Given the description of an element on the screen output the (x, y) to click on. 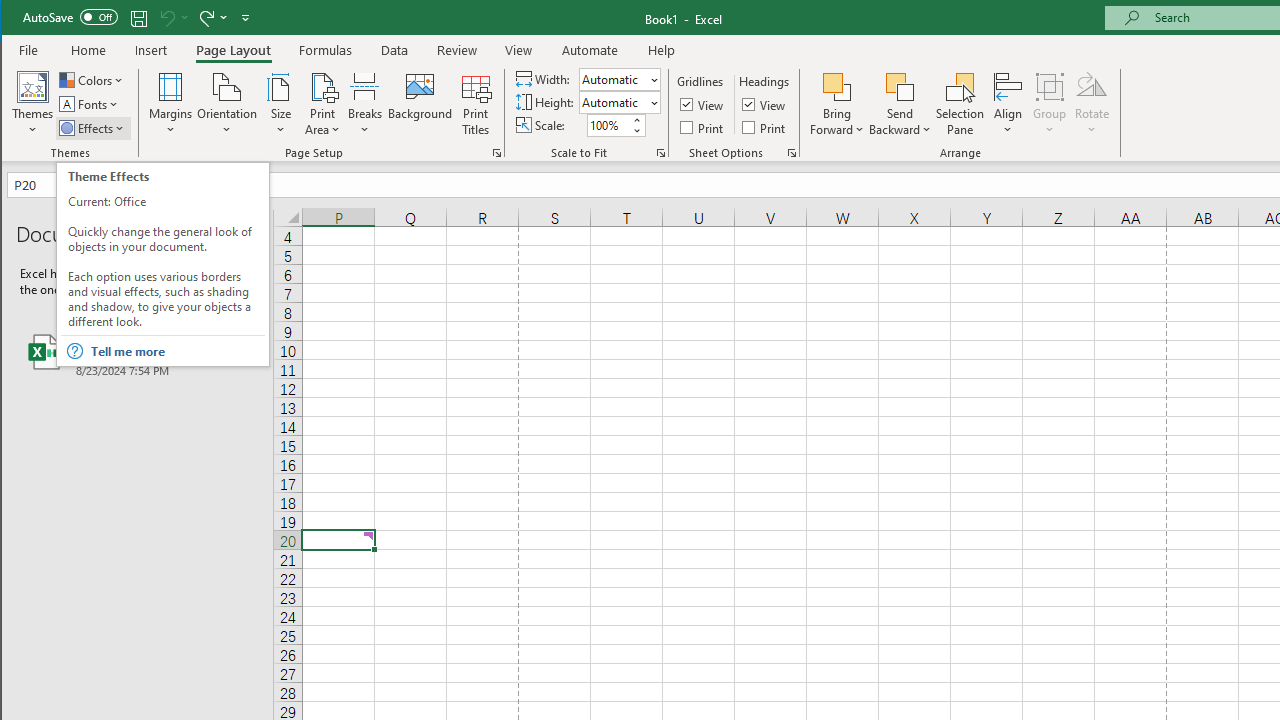
Rotate (1092, 104)
Scale (607, 125)
Align (1007, 104)
Height (619, 101)
Page Setup (660, 152)
Size (280, 104)
Selection Pane... (960, 104)
Colors (93, 80)
